Given the description of an element on the screen output the (x, y) to click on. 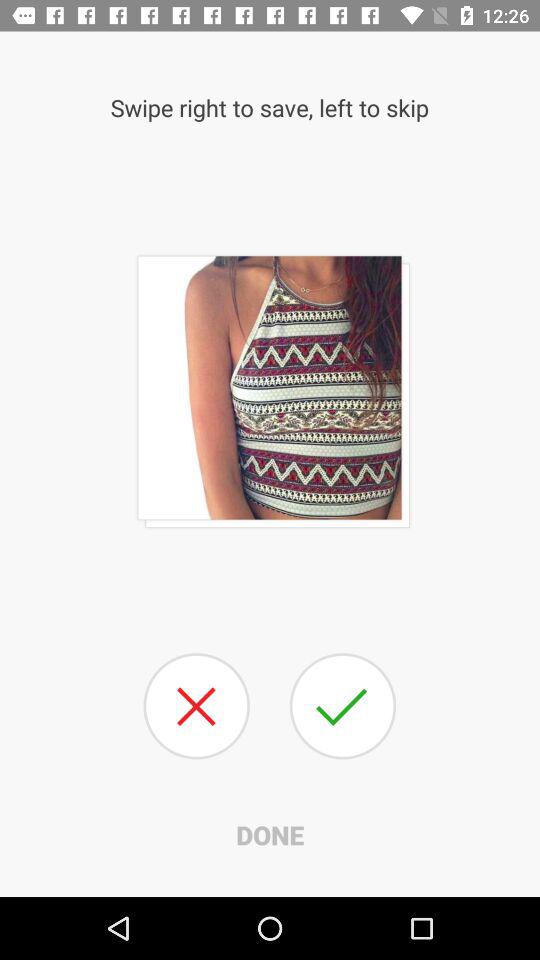
select yes (342, 705)
